Given the description of an element on the screen output the (x, y) to click on. 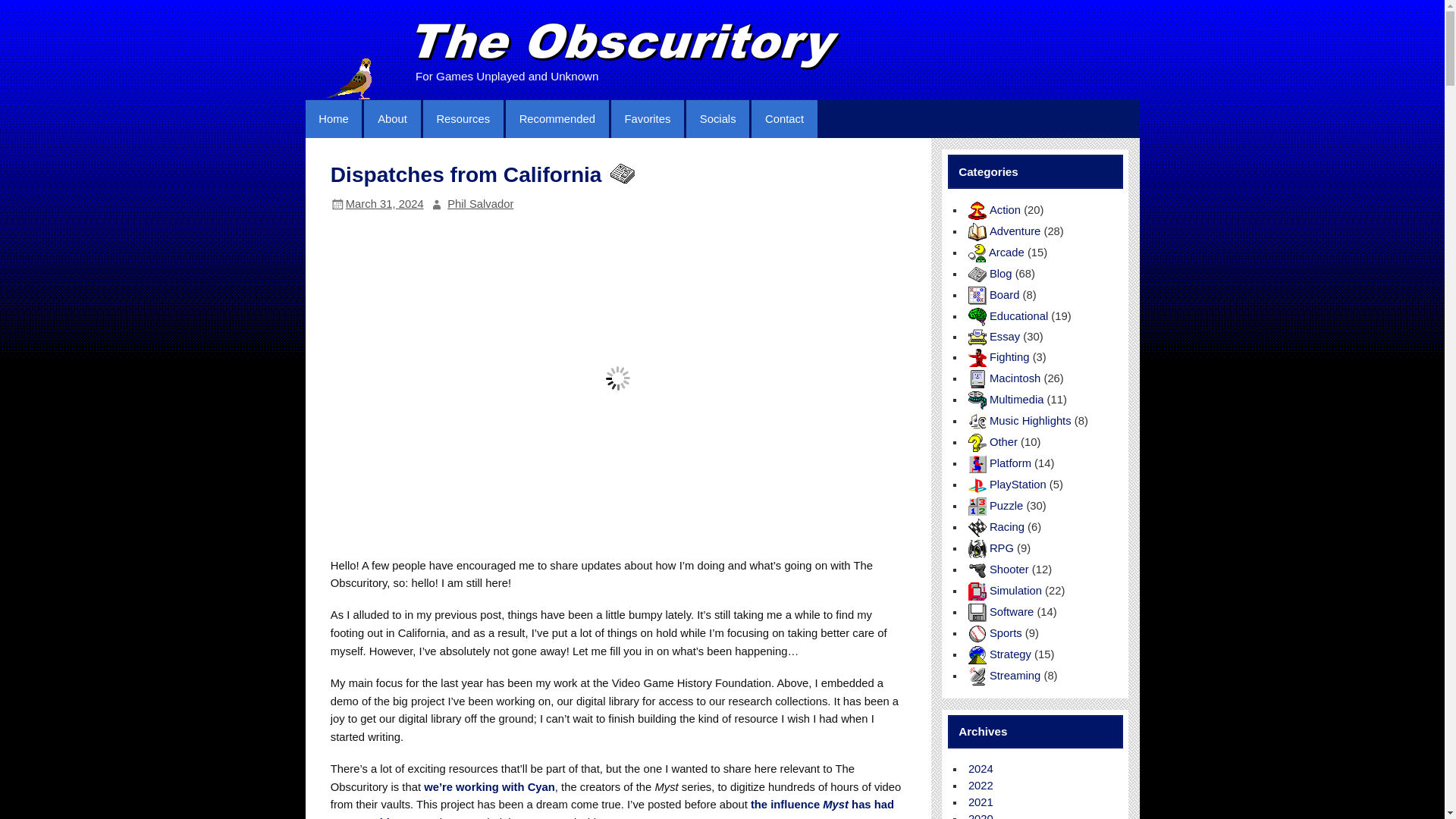
March 31, 2024 (384, 203)
Blog (620, 173)
View all posts by Phil Salvador (479, 203)
5:04 am (384, 203)
the influence Myst has had on game history (611, 808)
The Obscuritory (629, 46)
Favorites (647, 118)
Resources (463, 118)
Contact (783, 118)
Phil Salvador (479, 203)
